Given the description of an element on the screen output the (x, y) to click on. 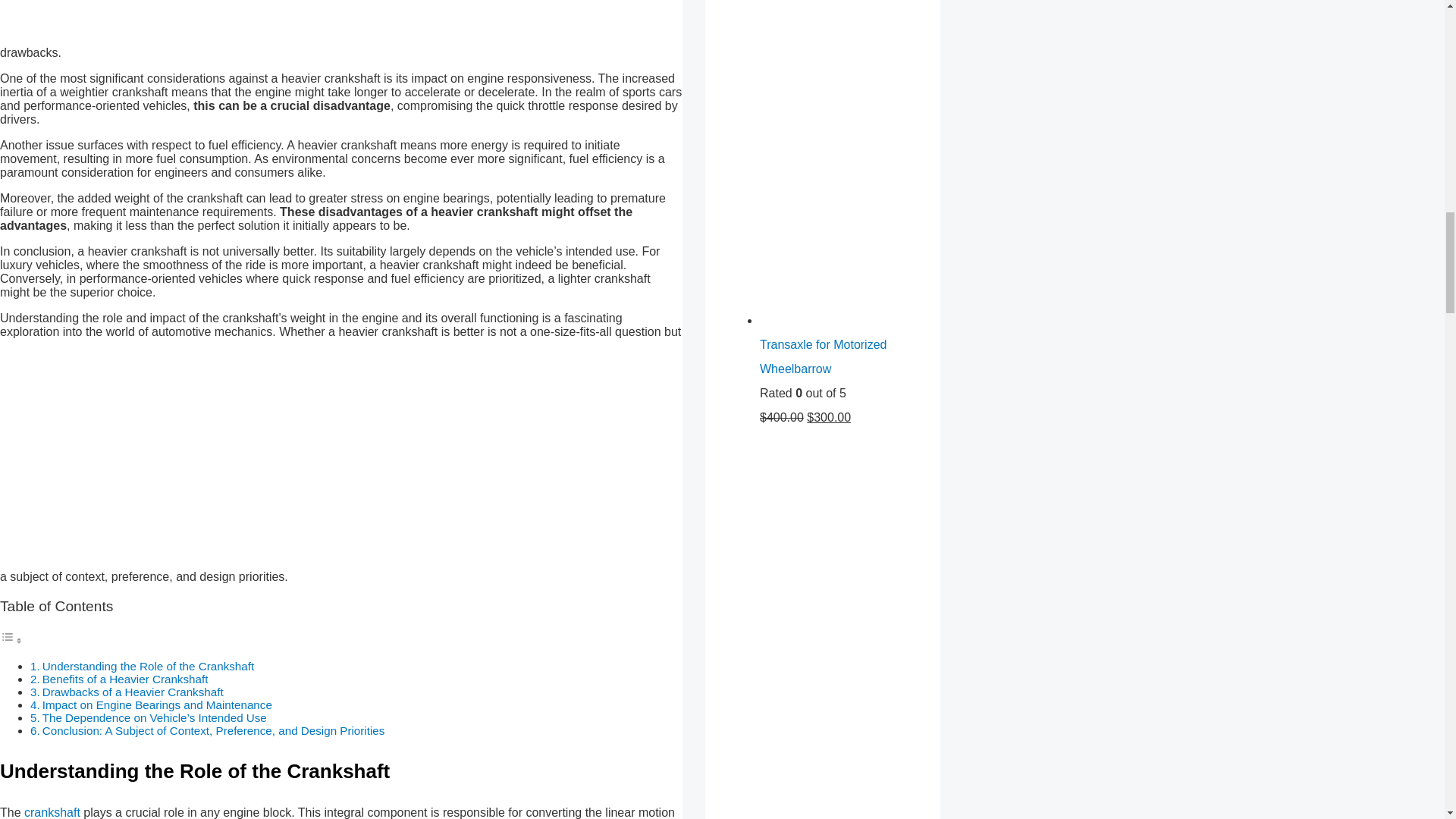
Understanding the Role of the Crankshaft (147, 666)
Drawbacks of a Heavier Crankshaft (133, 691)
Benefits of a Heavier Crankshaft (125, 678)
Impact on Engine Bearings and Maintenance (157, 704)
Understanding the Role of the Crankshaft (147, 666)
Drawbacks of a Heavier Crankshaft (133, 691)
Impact on Engine Bearings and Maintenance (157, 704)
crankshaft (52, 812)
Benefits of a Heavier Crankshaft (125, 678)
